Given the description of an element on the screen output the (x, y) to click on. 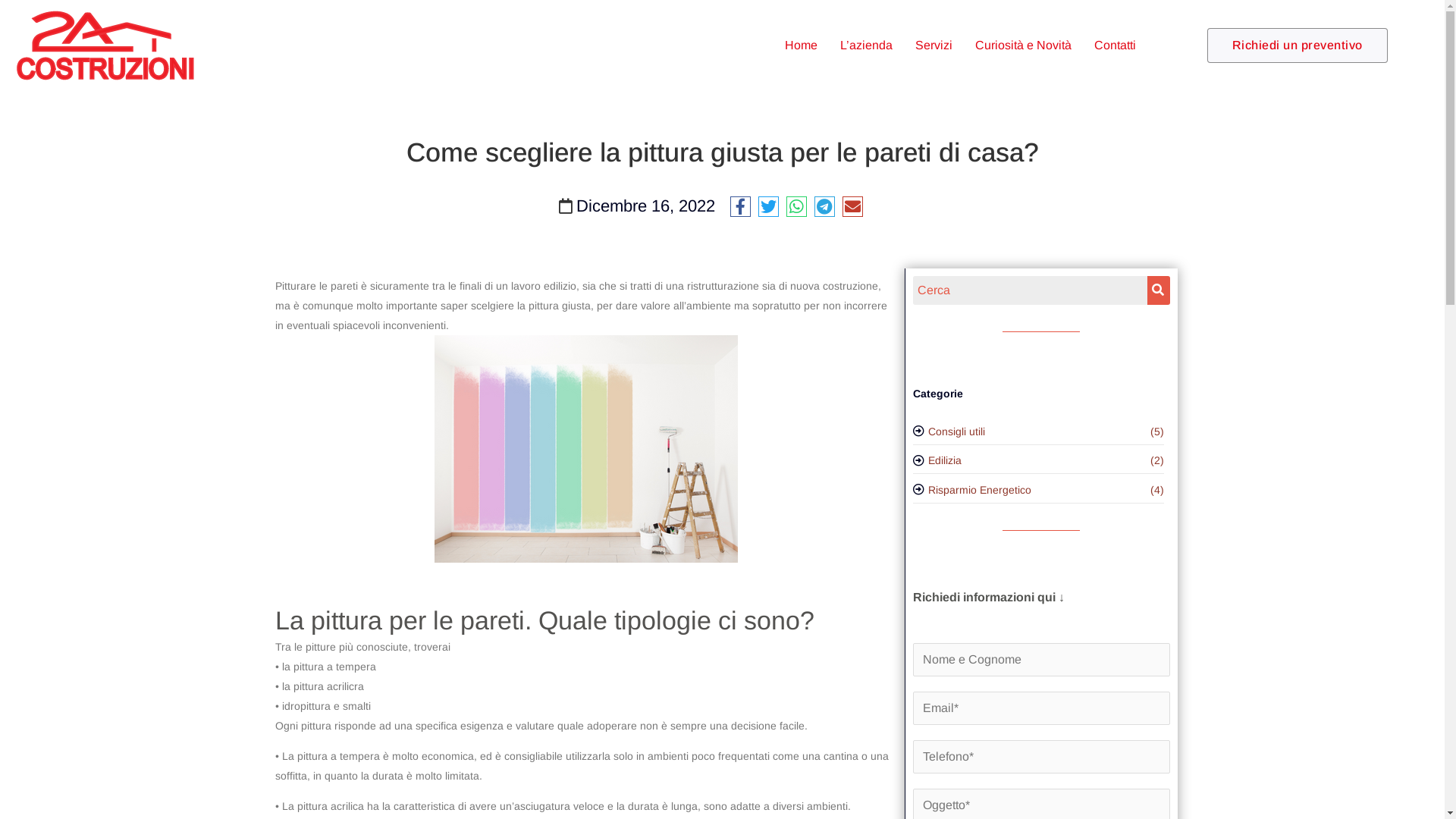
Home Element type: text (800, 45)
Contatti Element type: text (1114, 45)
Consigli utili
 (5) Element type: text (1038, 432)
Richiedi un preventivo Element type: text (1297, 45)
Search Element type: hover (1030, 290)
Edilizia
 (2) Element type: text (1038, 461)
Dicembre 16, 2022 Element type: text (645, 205)
Servizi Element type: text (933, 45)
Risparmio Energetico
 (4) Element type: text (1038, 490)
